Given the description of an element on the screen output the (x, y) to click on. 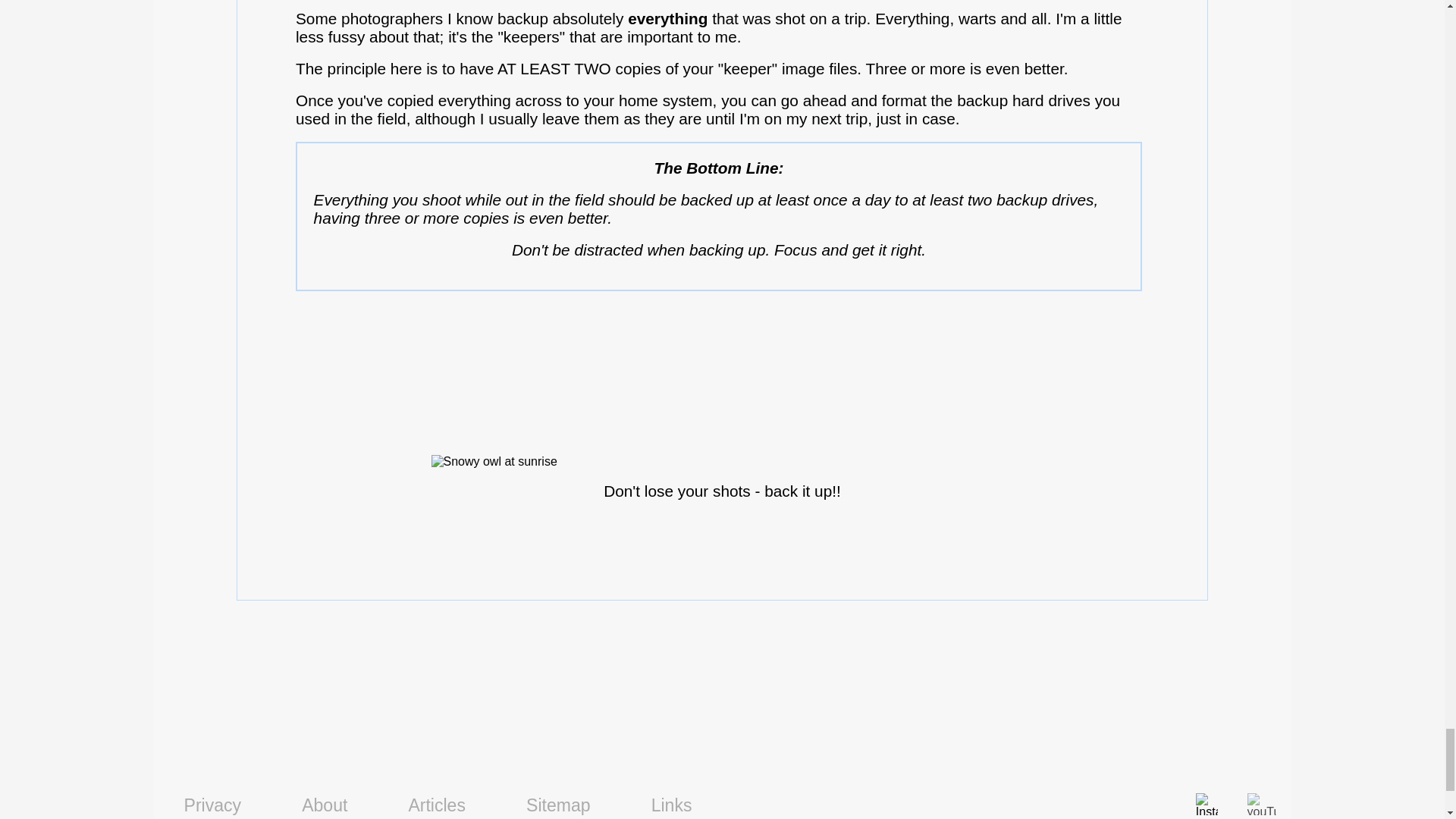
Privacy (212, 803)
About (324, 803)
Sitemap (558, 803)
Articles (436, 803)
Links (671, 803)
